Given the description of an element on the screen output the (x, y) to click on. 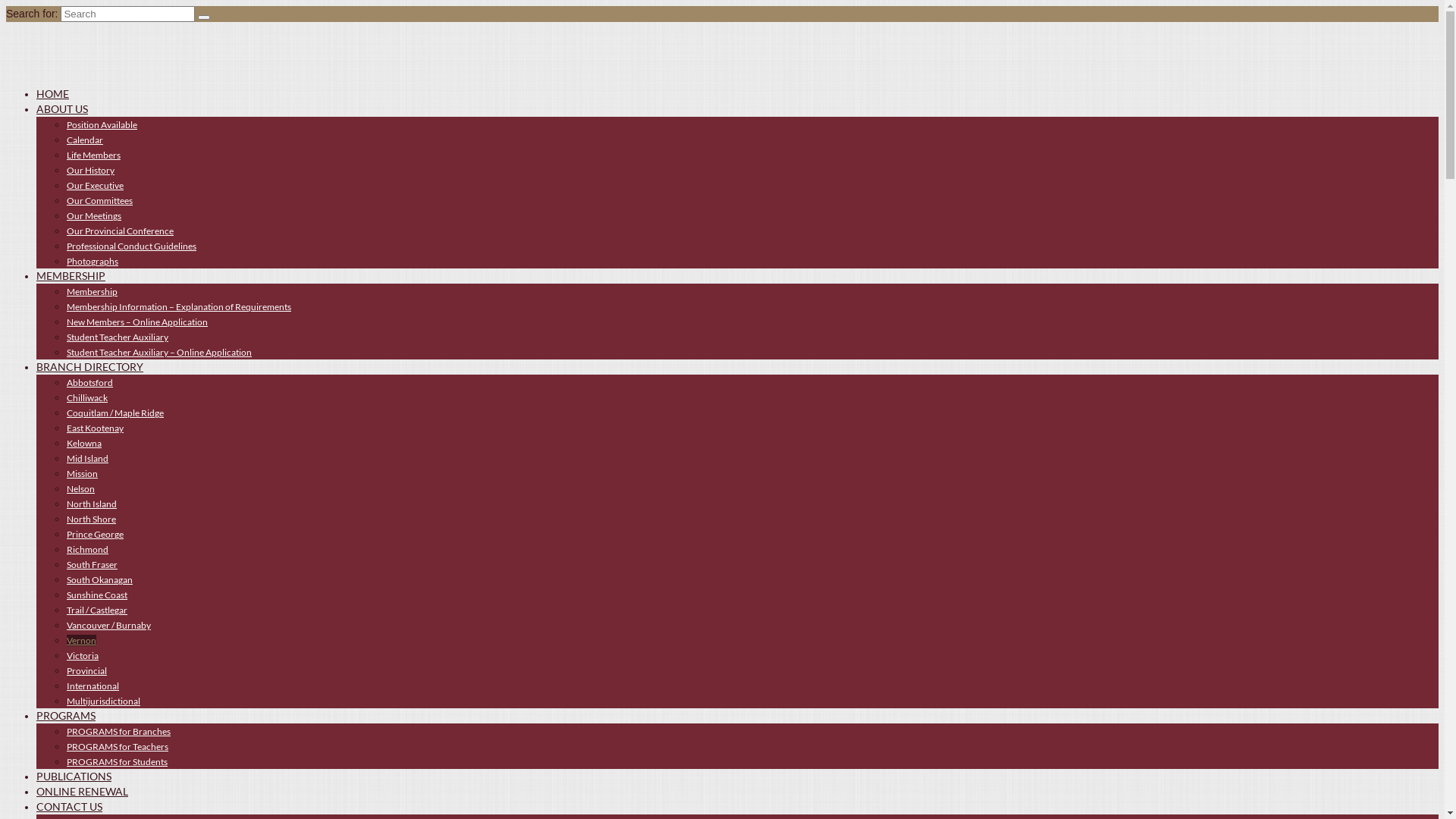
BC Registered Music Teachers' Association Element type: hover (722, 48)
Mission Element type: text (81, 473)
Life Members Element type: text (93, 154)
Position Available Element type: text (101, 124)
Kelowna Element type: text (83, 442)
Membership Element type: text (91, 291)
ABOUT US Element type: text (61, 108)
MEMBERSHIP Element type: text (70, 275)
Our Executive Element type: text (94, 185)
Richmond Element type: text (87, 549)
Sunshine Coast Element type: text (96, 594)
Professional Conduct Guidelines Element type: text (131, 245)
Abbotsford Element type: text (89, 382)
Multijurisdictional Element type: text (103, 700)
PROGRAMS for Teachers Element type: text (117, 746)
Calendar Element type: text (84, 139)
PROGRAMS for Branches Element type: text (118, 731)
Our Meetings Element type: text (93, 215)
PROGRAMS for Students Element type: text (116, 761)
Chilliwack Element type: text (86, 397)
International Element type: text (92, 685)
South Okanagan Element type: text (99, 579)
East Kootenay Element type: text (94, 427)
North Shore Element type: text (91, 518)
BRANCH DIRECTORY Element type: text (89, 366)
Vernon Element type: text (81, 640)
Coquitlam / Maple Ridge Element type: text (114, 412)
Our History Element type: text (90, 169)
PUBLICATIONS Element type: text (73, 775)
Victoria Element type: text (82, 655)
South Fraser Element type: text (91, 564)
Vancouver / Burnaby Element type: text (108, 624)
Prince George Element type: text (94, 533)
Our Committees Element type: text (99, 200)
Mid Island Element type: text (87, 458)
Photographs Element type: text (92, 260)
CONTACT US Element type: text (69, 806)
HOME Element type: text (52, 93)
Nelson Element type: text (80, 488)
Trail / Castlegar Element type: text (96, 609)
ONLINE RENEWAL Element type: text (82, 790)
North Island Element type: text (91, 503)
Provincial Element type: text (86, 670)
Our Provincial Conference Element type: text (119, 230)
Student Teacher Auxiliary Element type: text (117, 336)
PROGRAMS Element type: text (65, 715)
